Given the description of an element on the screen output the (x, y) to click on. 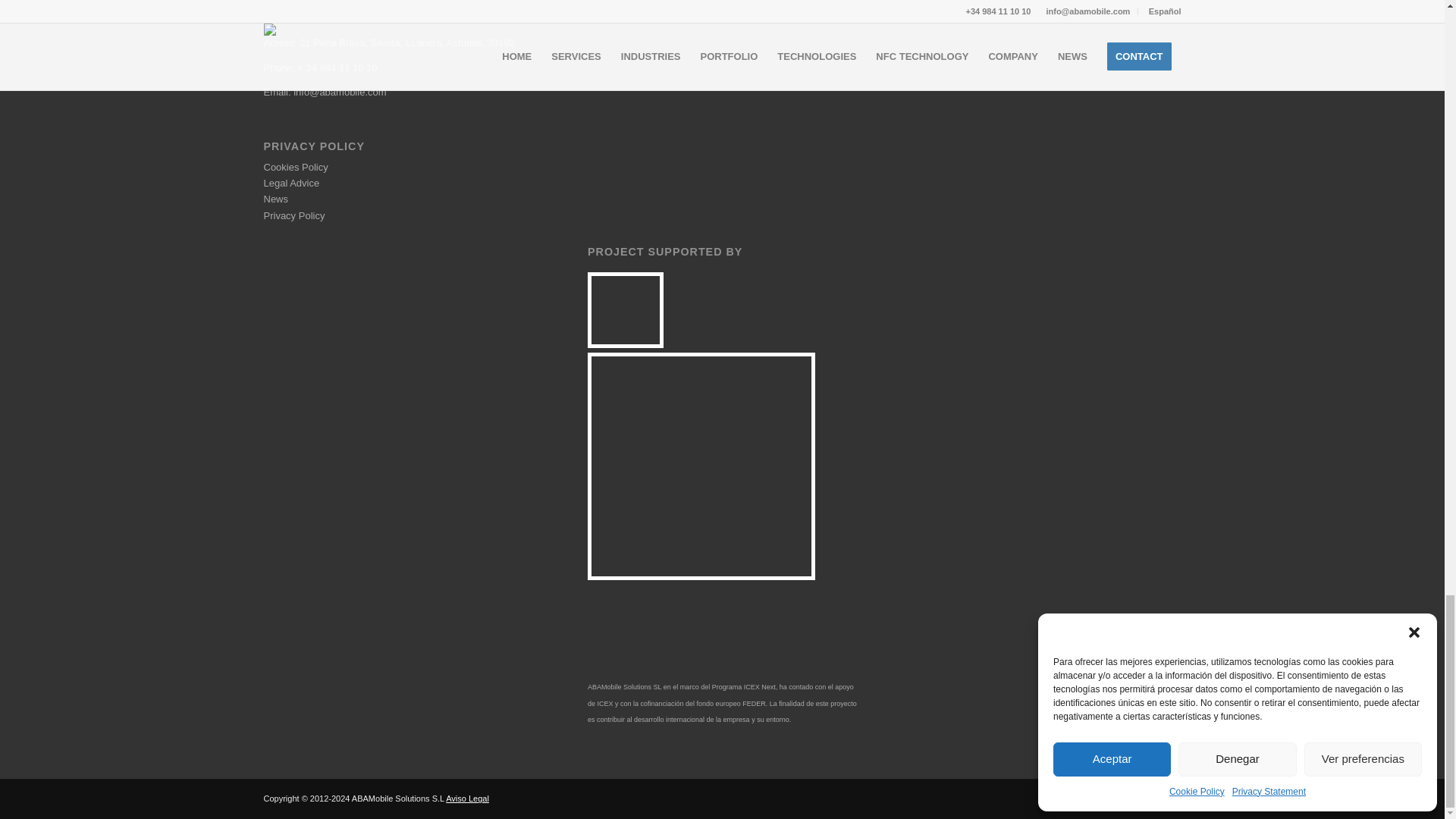
Youtube (1169, 798)
LinkedIn (1146, 798)
Twitter (1101, 798)
Facebook (1124, 798)
